Given the description of an element on the screen output the (x, y) to click on. 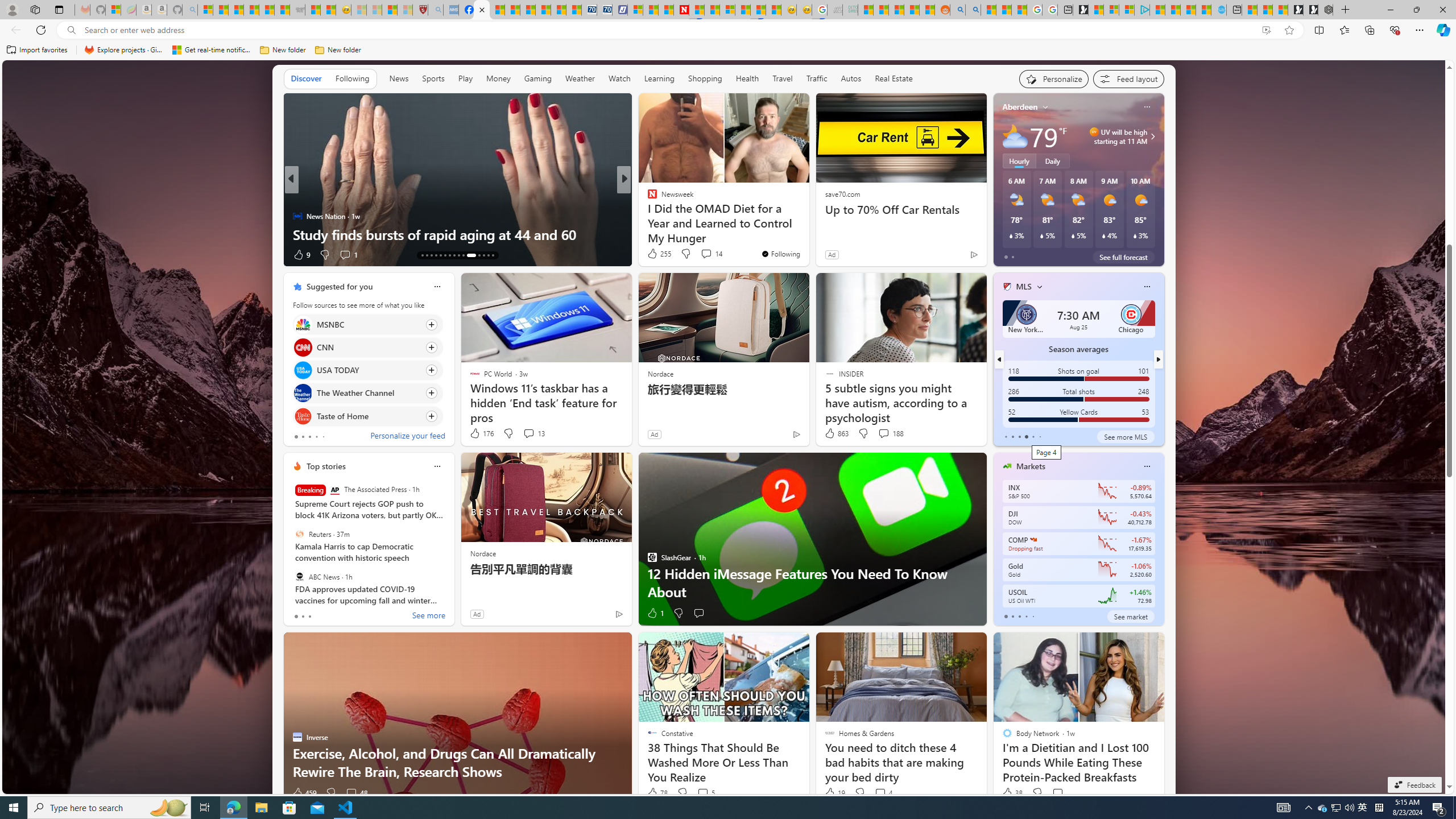
Suggested for you (338, 286)
previous (998, 359)
Mostly cloudy (1014, 136)
View comments 114 Comment (709, 254)
View comments 5 Comment (703, 792)
Reuters (299, 533)
